Given the description of an element on the screen output the (x, y) to click on. 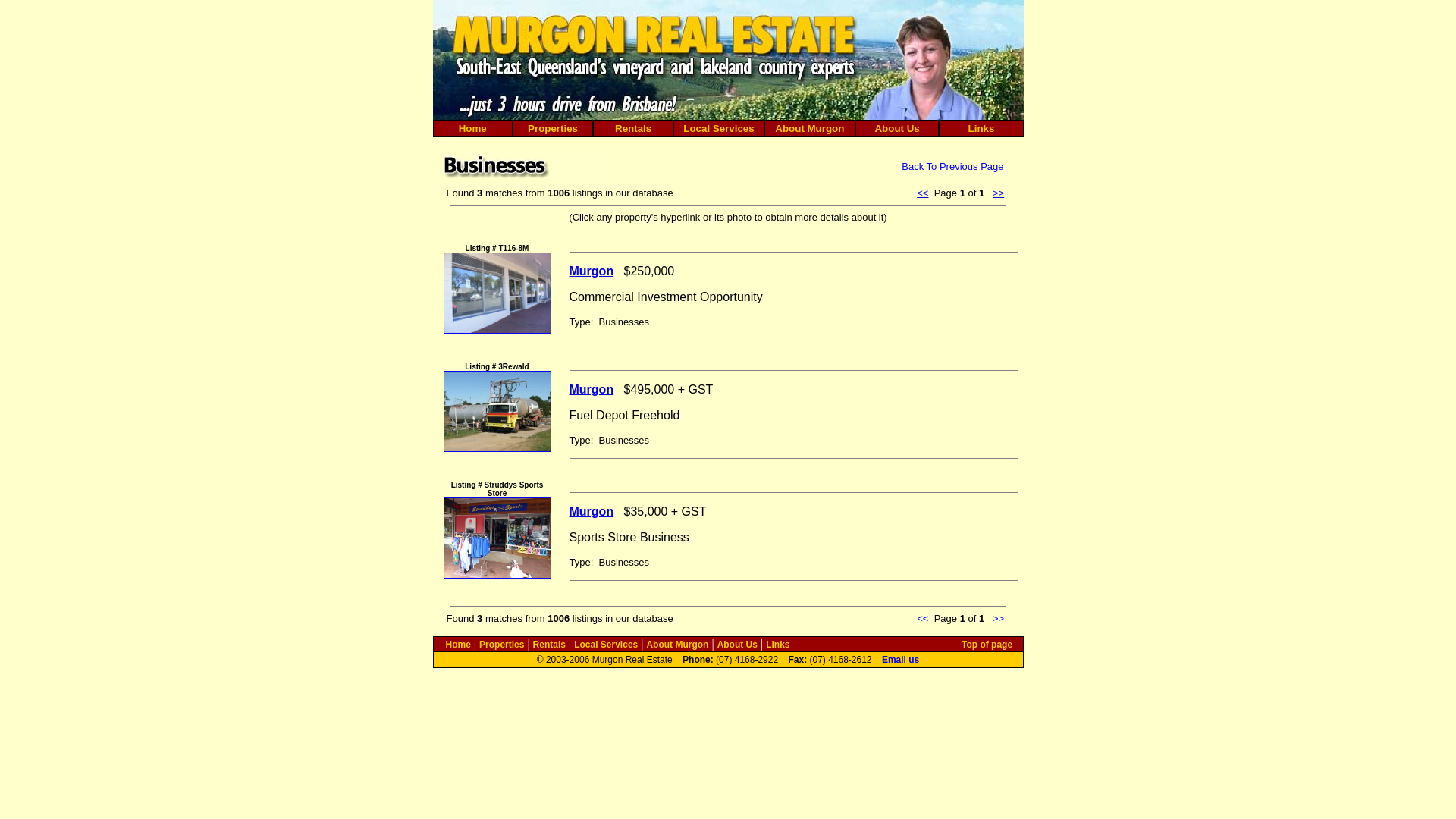
About Us Element type: text (896, 128)
>> Element type: text (998, 192)
About Us Element type: text (737, 644)
Murgon Element type: text (590, 269)
Home Element type: text (457, 644)
Properties Element type: text (501, 644)
>> Element type: text (998, 618)
Properties Element type: text (552, 128)
Rentals Element type: text (632, 128)
Links Element type: text (981, 128)
<< Element type: text (922, 618)
Links Element type: text (777, 644)
About Murgon Element type: text (809, 128)
Local Services Element type: text (718, 128)
About Murgon Element type: text (677, 644)
Top of page Element type: text (986, 644)
Murgon Element type: text (590, 388)
<< Element type: text (922, 192)
Murgon Element type: text (590, 511)
Home Element type: text (472, 128)
Email us Element type: text (900, 659)
Back To Previous Page Element type: text (952, 166)
Local Services Element type: text (605, 644)
Rentals Element type: text (549, 644)
